Given the description of an element on the screen output the (x, y) to click on. 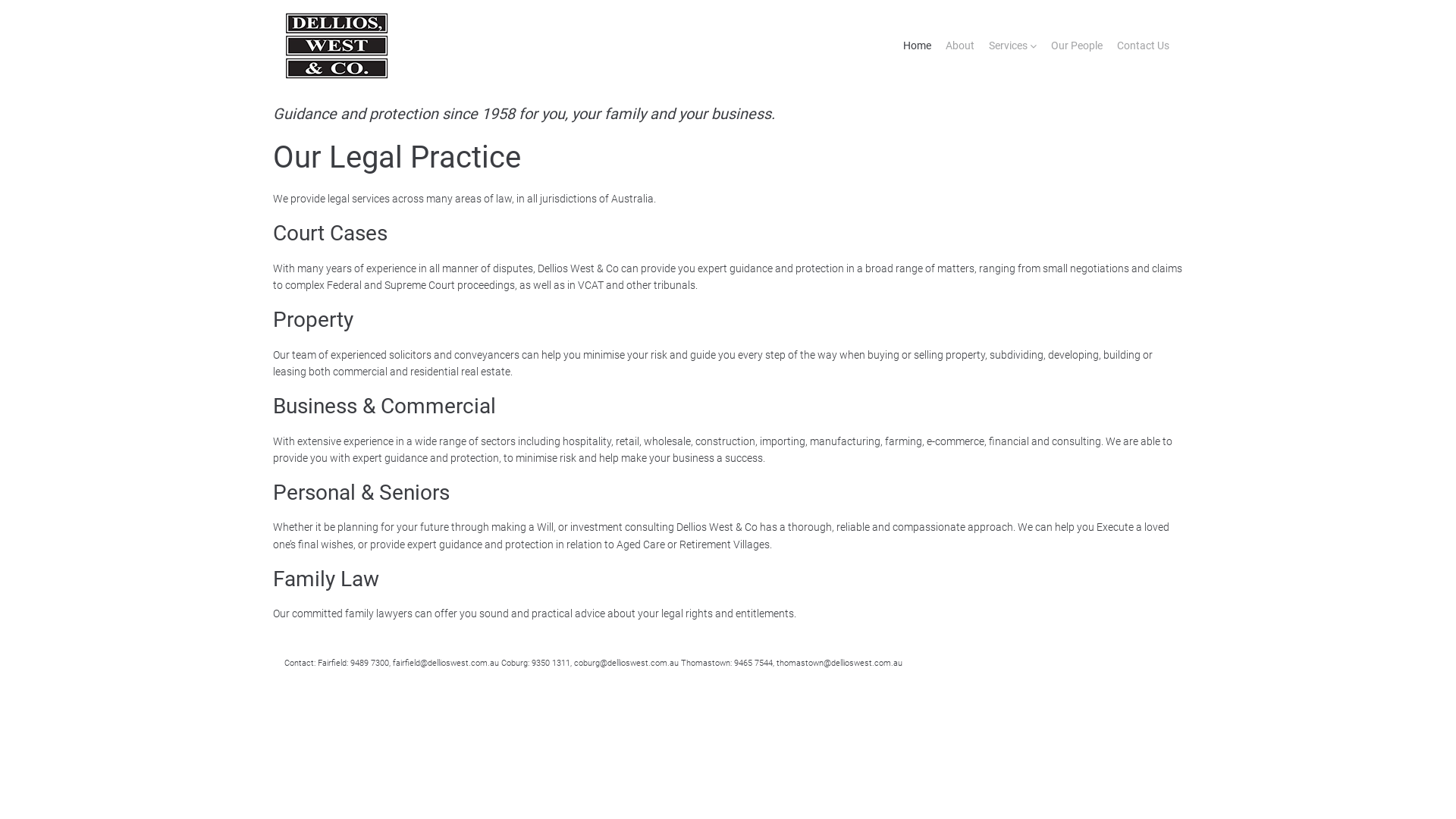
Personal & Seniors Element type: text (361, 492)
Family Law Element type: text (326, 578)
Business & Commercial Element type: text (384, 405)
Skip to content Element type: text (0, 0)
Court Cases Element type: text (330, 232)
Services Element type: text (1007, 45)
Our People Element type: text (1076, 45)
Home Element type: text (917, 45)
About Element type: text (959, 45)
Property Element type: text (313, 319)
Contact Us Element type: text (1143, 45)
